Given the description of an element on the screen output the (x, y) to click on. 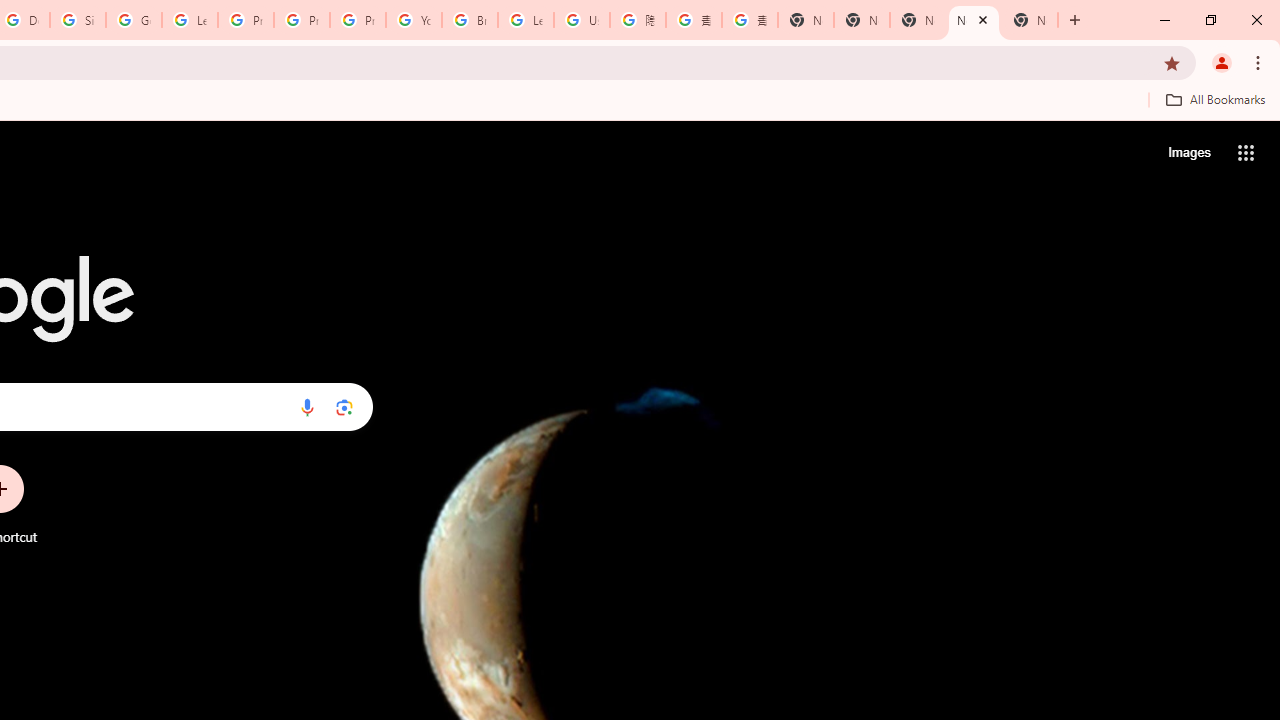
Privacy Help Center - Policies Help (245, 20)
New Tab (806, 20)
Privacy Help Center - Policies Help (301, 20)
Sign in - Google Accounts (77, 20)
